Given the description of an element on the screen output the (x, y) to click on. 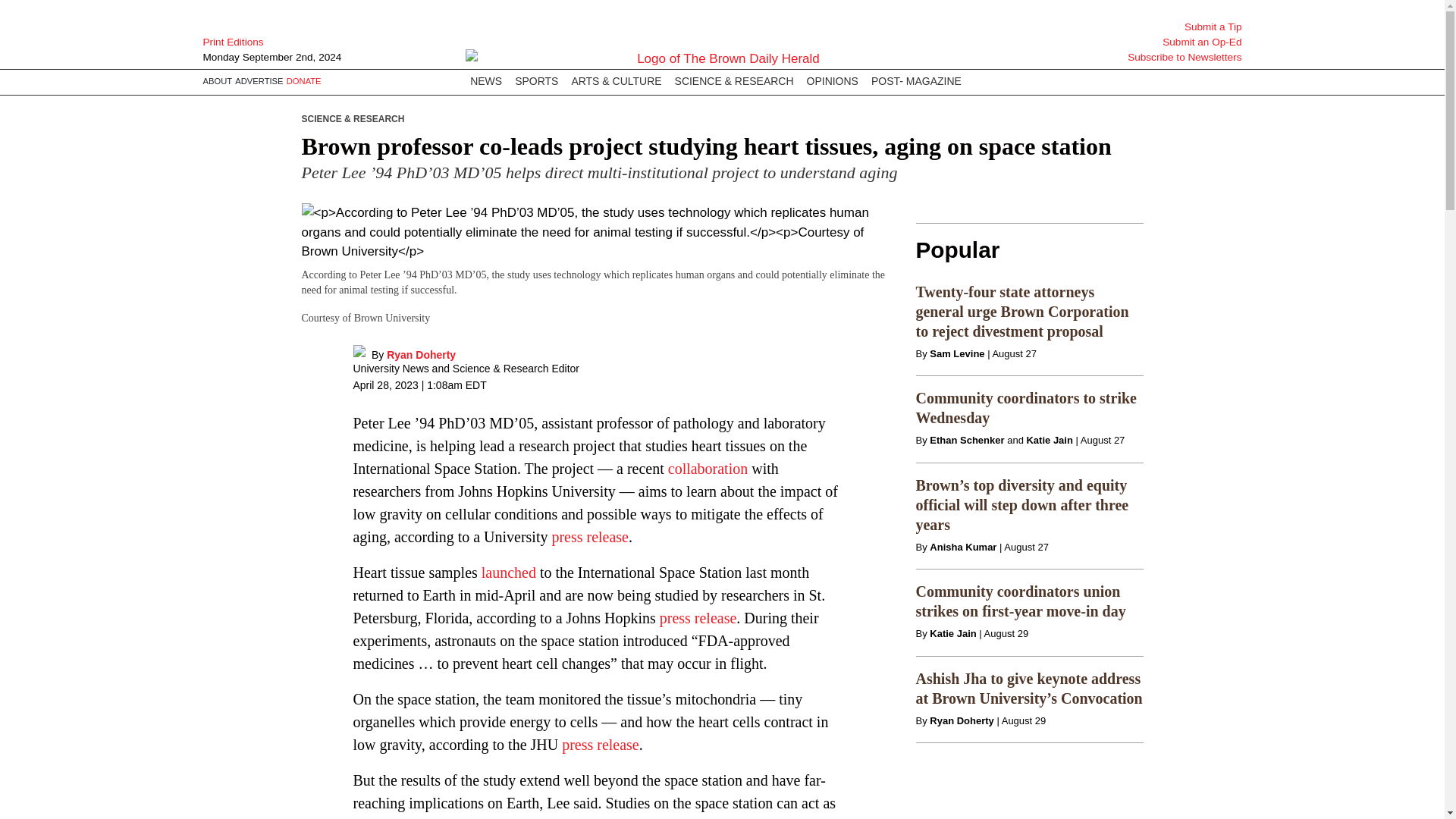
Sports (536, 82)
Submit a Tip (1164, 27)
Post- Magazine (916, 82)
Subscribe to Newsletters (1164, 57)
SPORTS (536, 82)
Print Editions (279, 42)
Submit an Op-Ed (1164, 42)
Community coordinators to strike Wednesday (1026, 407)
OPINIONS (831, 82)
